Given the description of an element on the screen output the (x, y) to click on. 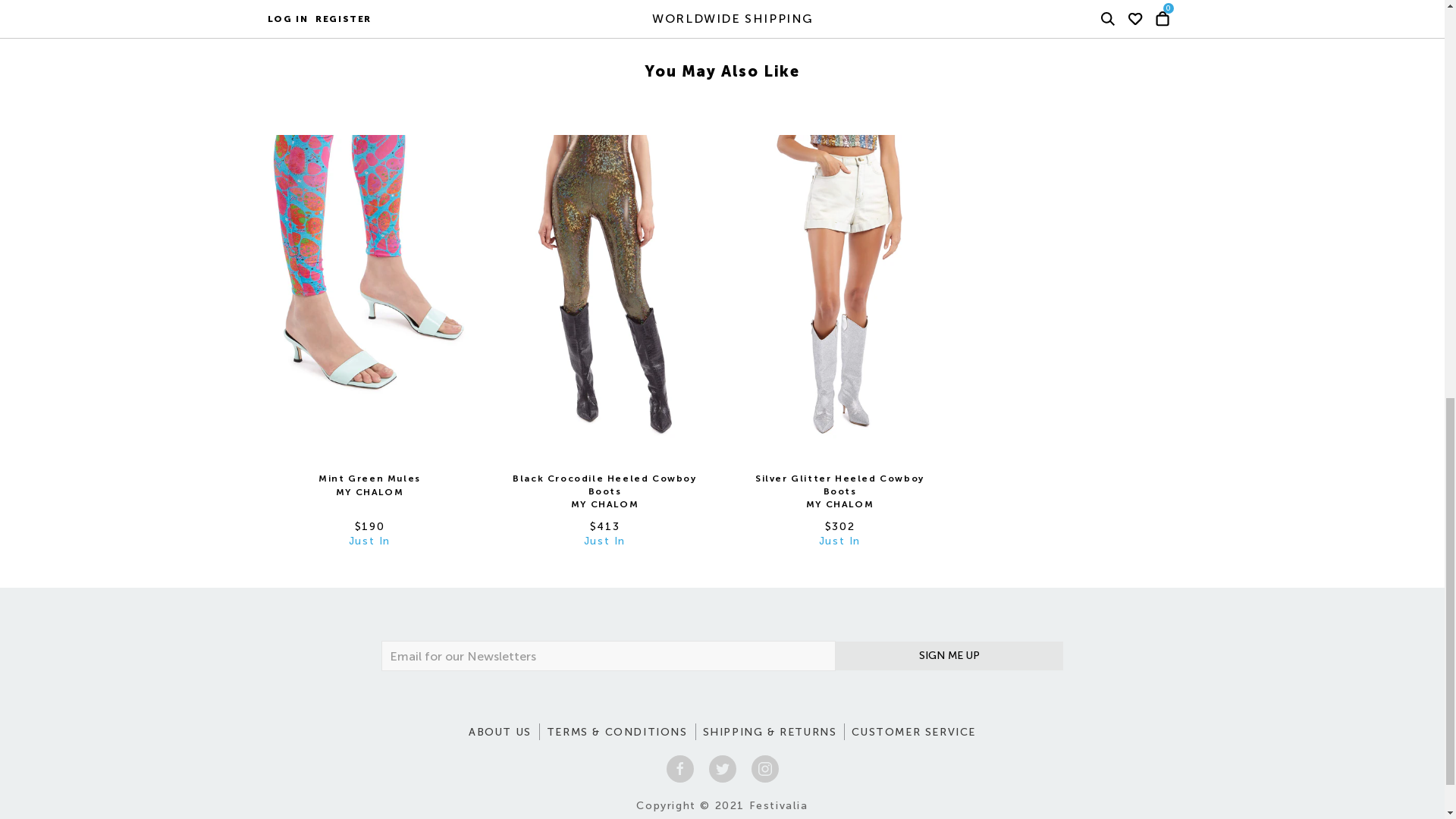
Sign me Up (948, 655)
